Given the description of an element on the screen output the (x, y) to click on. 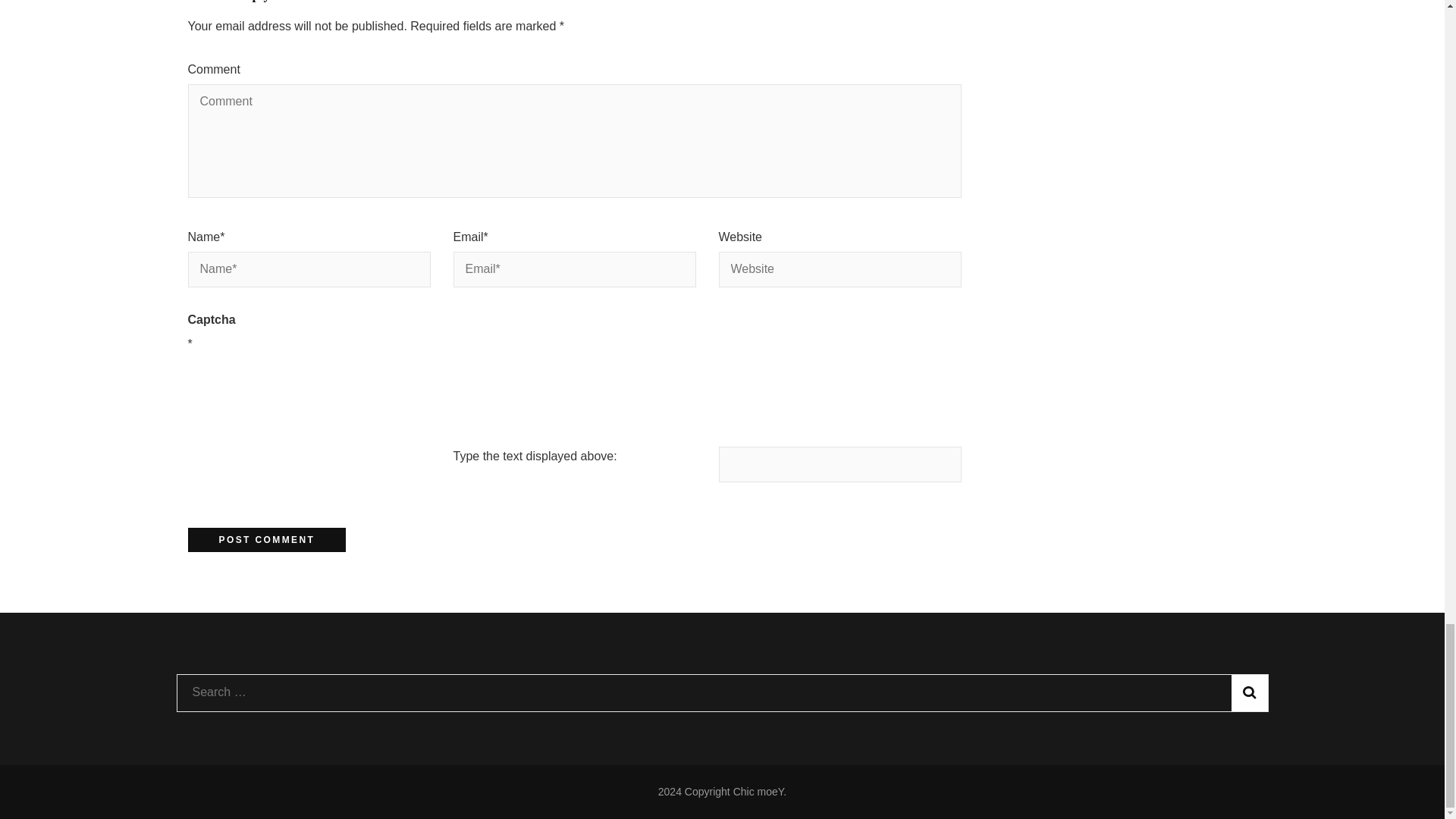
Search (1249, 692)
Post Comment (266, 539)
Search (1249, 692)
